Given the description of an element on the screen output the (x, y) to click on. 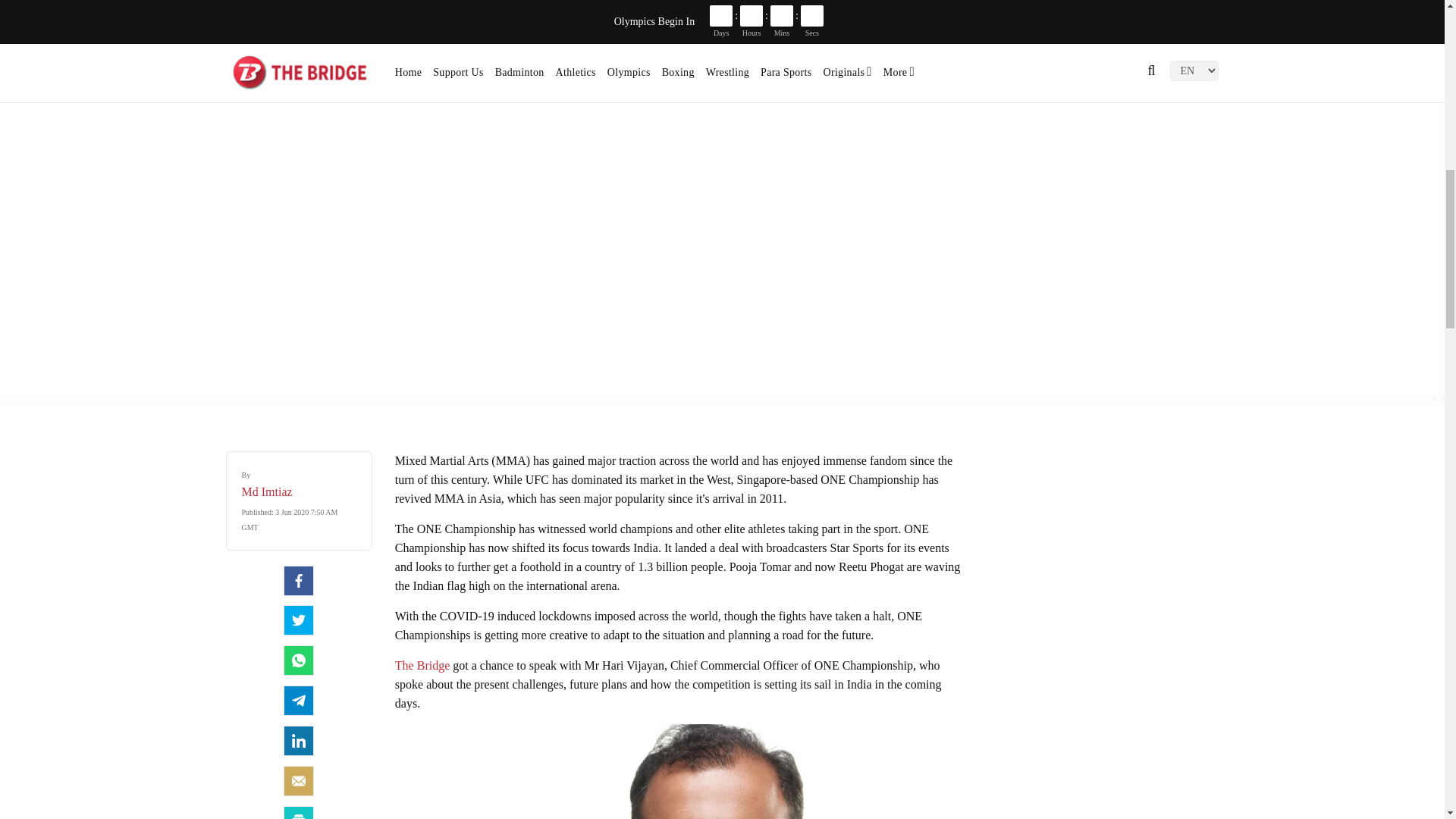
LinkedIn (298, 740)
Share by Email (298, 780)
